Given the description of an element on the screen output the (x, y) to click on. 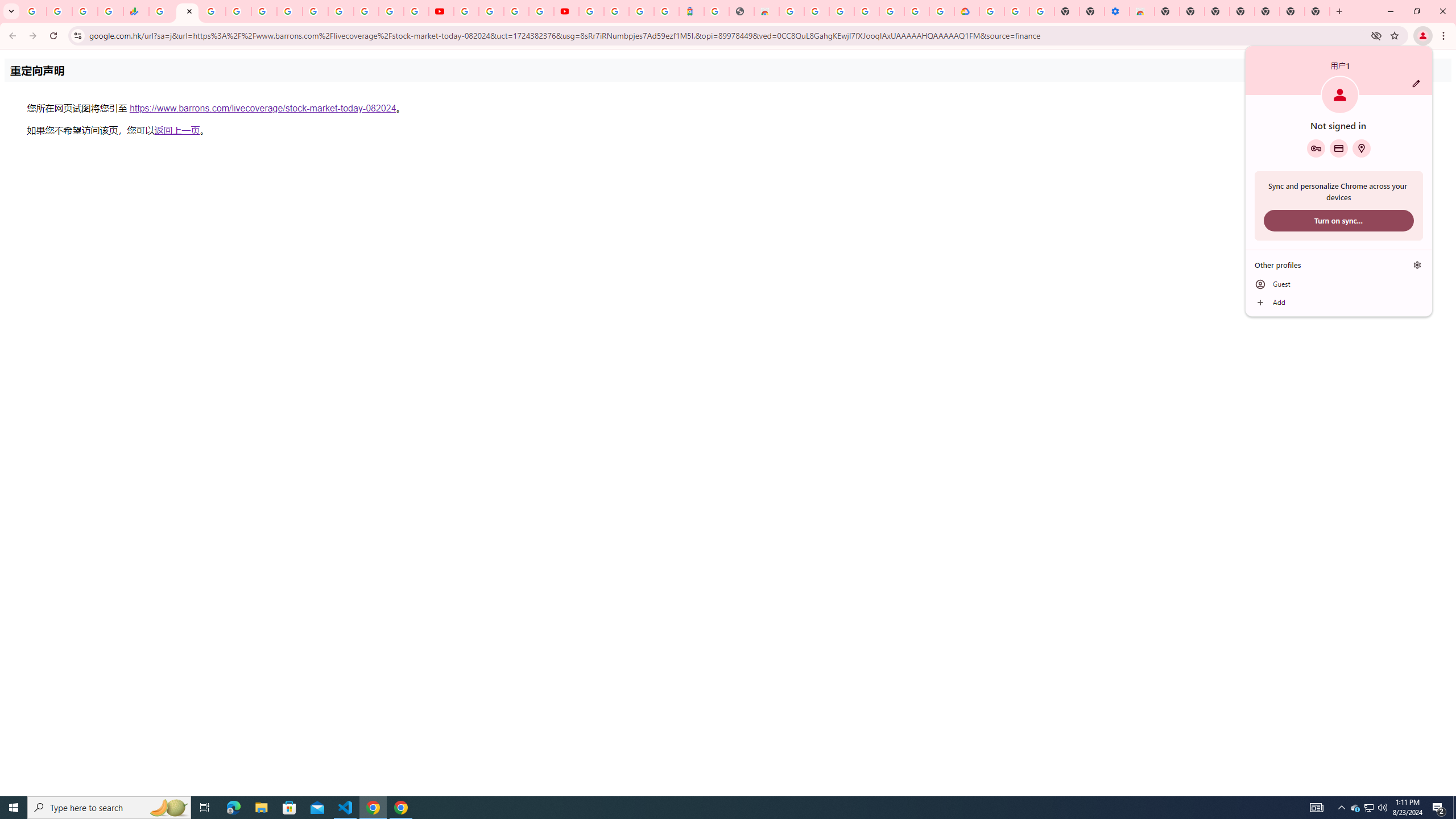
Create your Google Account (516, 11)
Settings - Accessibility (1116, 11)
Sign in - Google Accounts (991, 11)
Type here to search (108, 807)
Visual Studio Code - 1 running window (345, 807)
Atour Hotel - Google hotels (691, 11)
Android TV Policies and Guidelines - Transparency Center (315, 11)
File Explorer (261, 807)
